Given the description of an element on the screen output the (x, y) to click on. 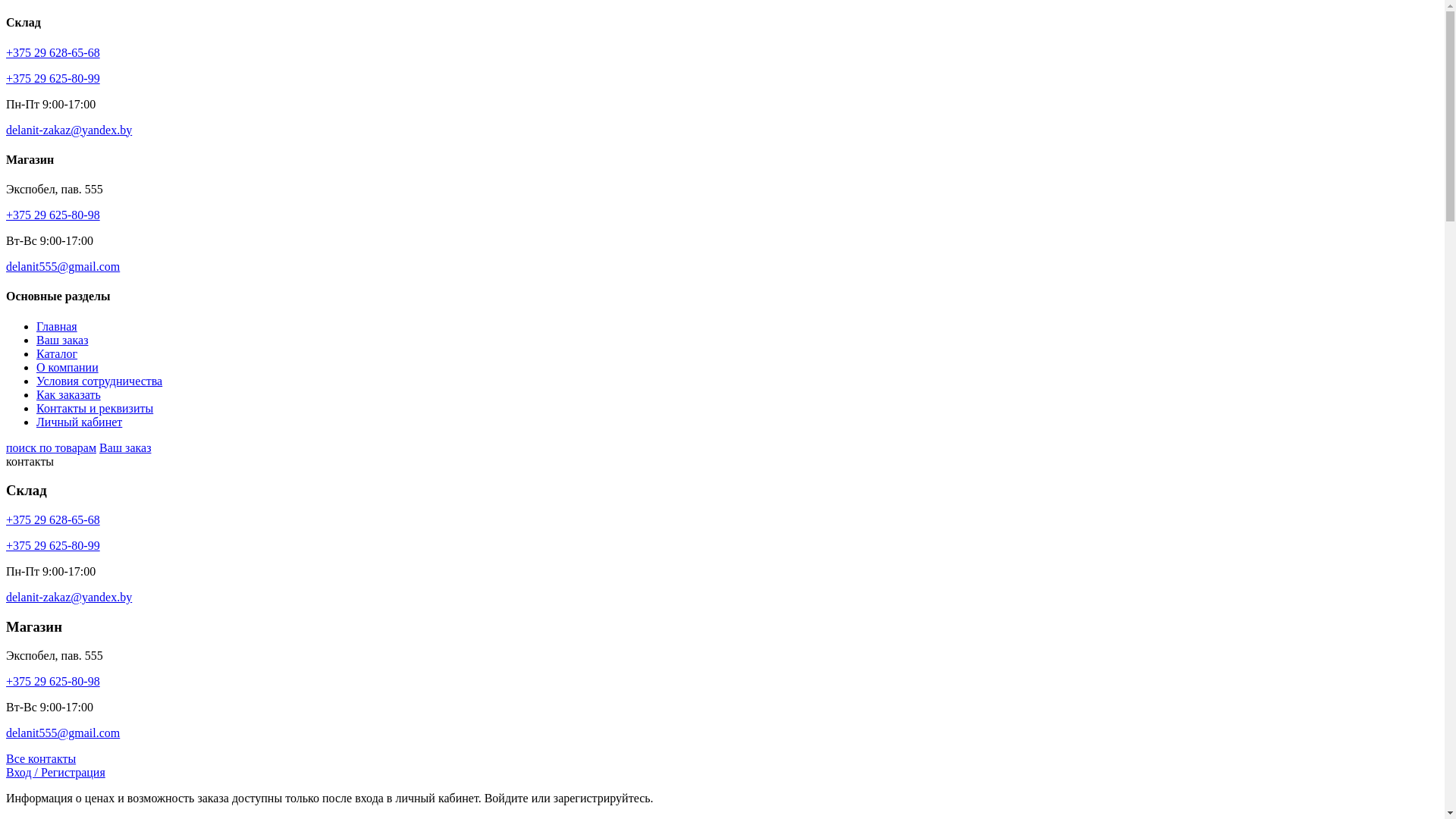
+375 29 625-80-98 Element type: text (53, 680)
delanit-zakaz@yandex.by Element type: text (68, 596)
+375 29 625-80-98 Element type: text (53, 214)
+375 29 628-65-68 Element type: text (53, 519)
delanit-zakaz@yandex.by Element type: text (68, 129)
+375 29 628-65-68 Element type: text (53, 52)
+375 29 625-80-99 Element type: text (53, 78)
+375 29 625-80-99 Element type: text (53, 545)
delanit555@gmail.com Element type: text (62, 266)
delanit555@gmail.com Element type: text (62, 732)
